Given the description of an element on the screen output the (x, y) to click on. 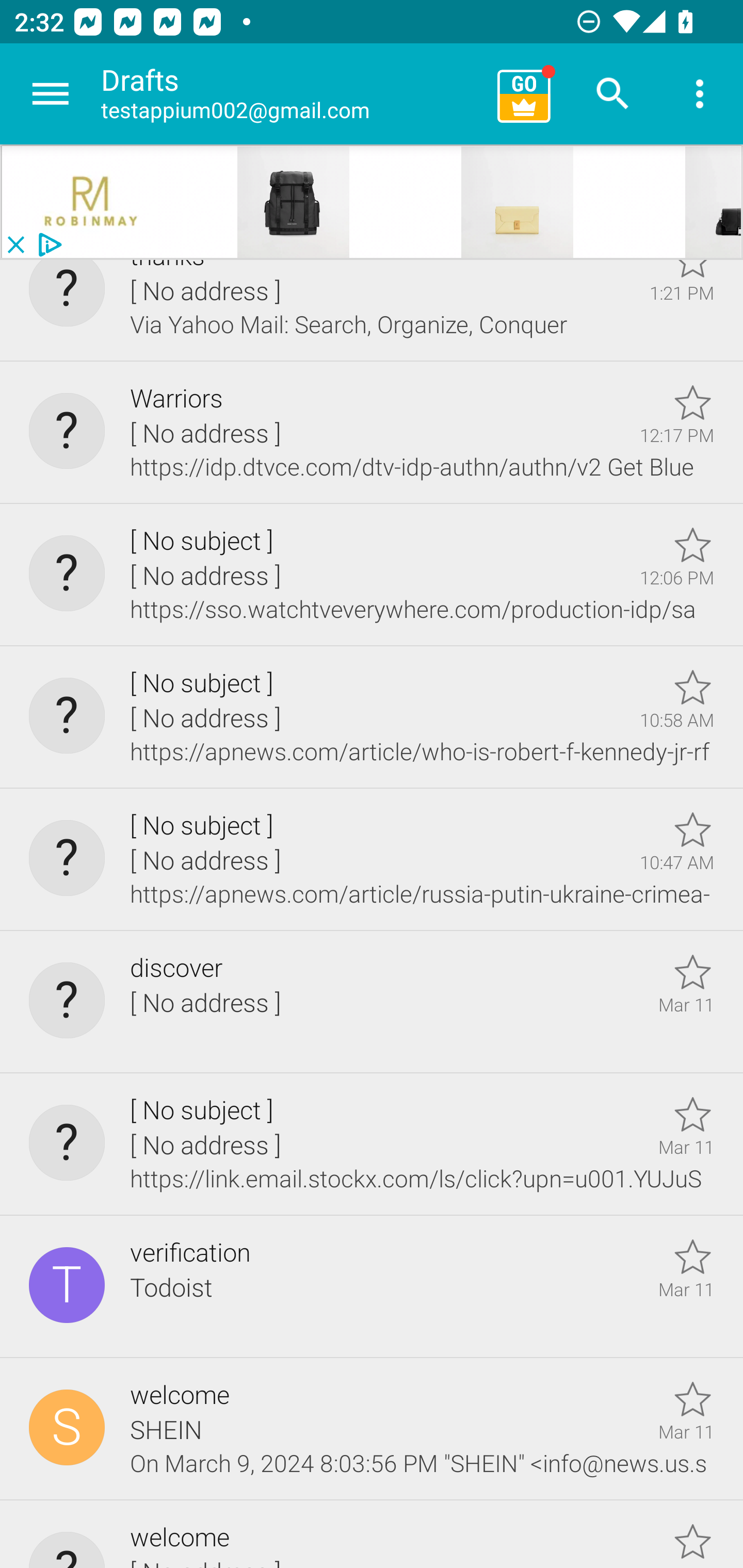
Navigate up (50, 93)
Drafts testappium002@gmail.com (291, 93)
Search (612, 93)
More options (699, 93)
   (91, 202)
   (293, 202)
   (517, 202)
close_button (14, 245)
privacy_small (47, 245)
discover, [ No address ], Mar 11 (371, 1002)
verification, Todoist, Mar 11 (371, 1286)
